Given the description of an element on the screen output the (x, y) to click on. 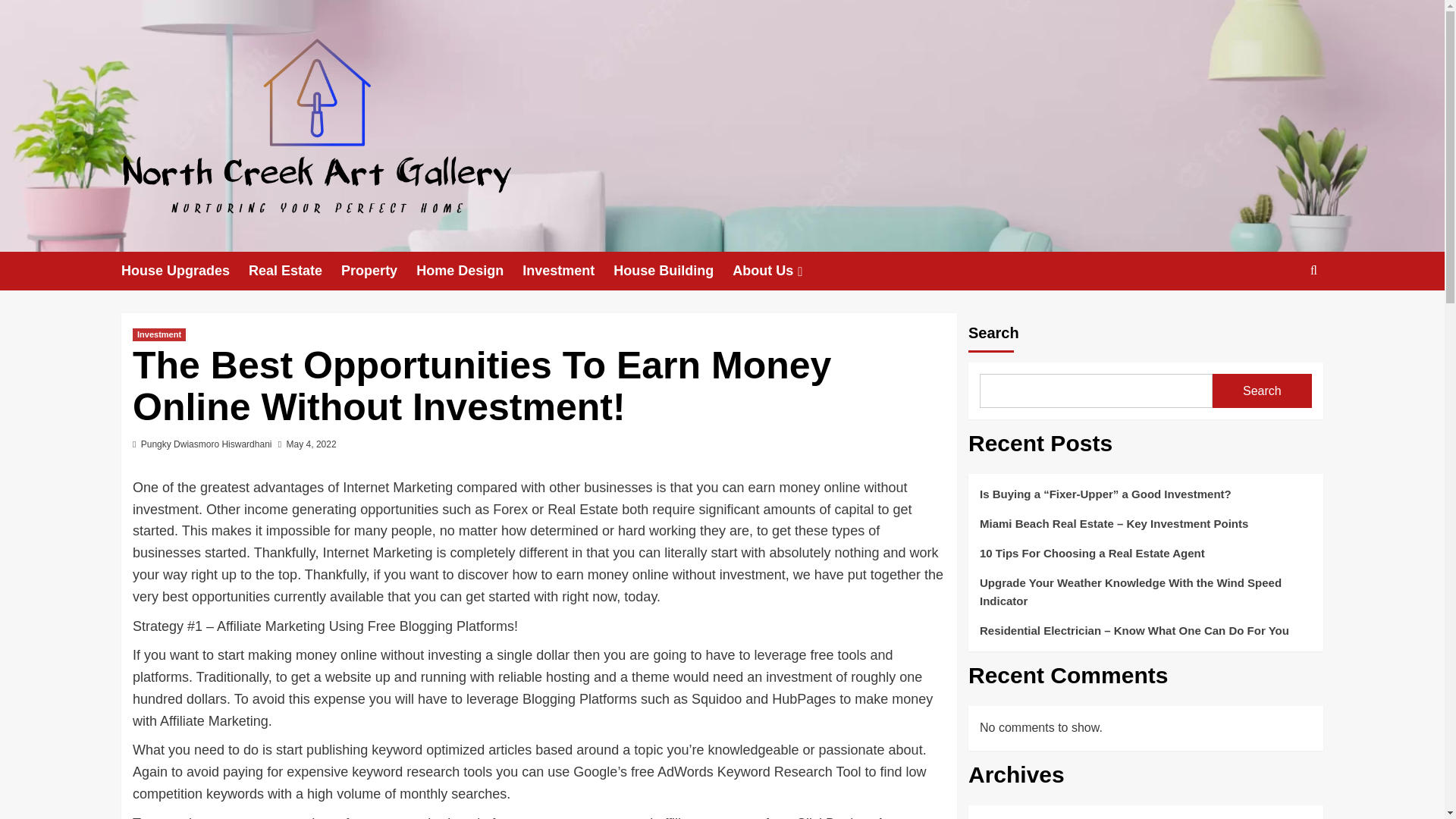
Search (1261, 390)
Pungky Dwiasmoro Hiswardhani (206, 443)
House Upgrades (184, 270)
Investment (567, 270)
Real Estate (294, 270)
Property (378, 270)
About Us (778, 270)
Home Design (469, 270)
May 4, 2022 (311, 443)
Investment (159, 334)
House Building (672, 270)
Search (1278, 317)
